Given the description of an element on the screen output the (x, y) to click on. 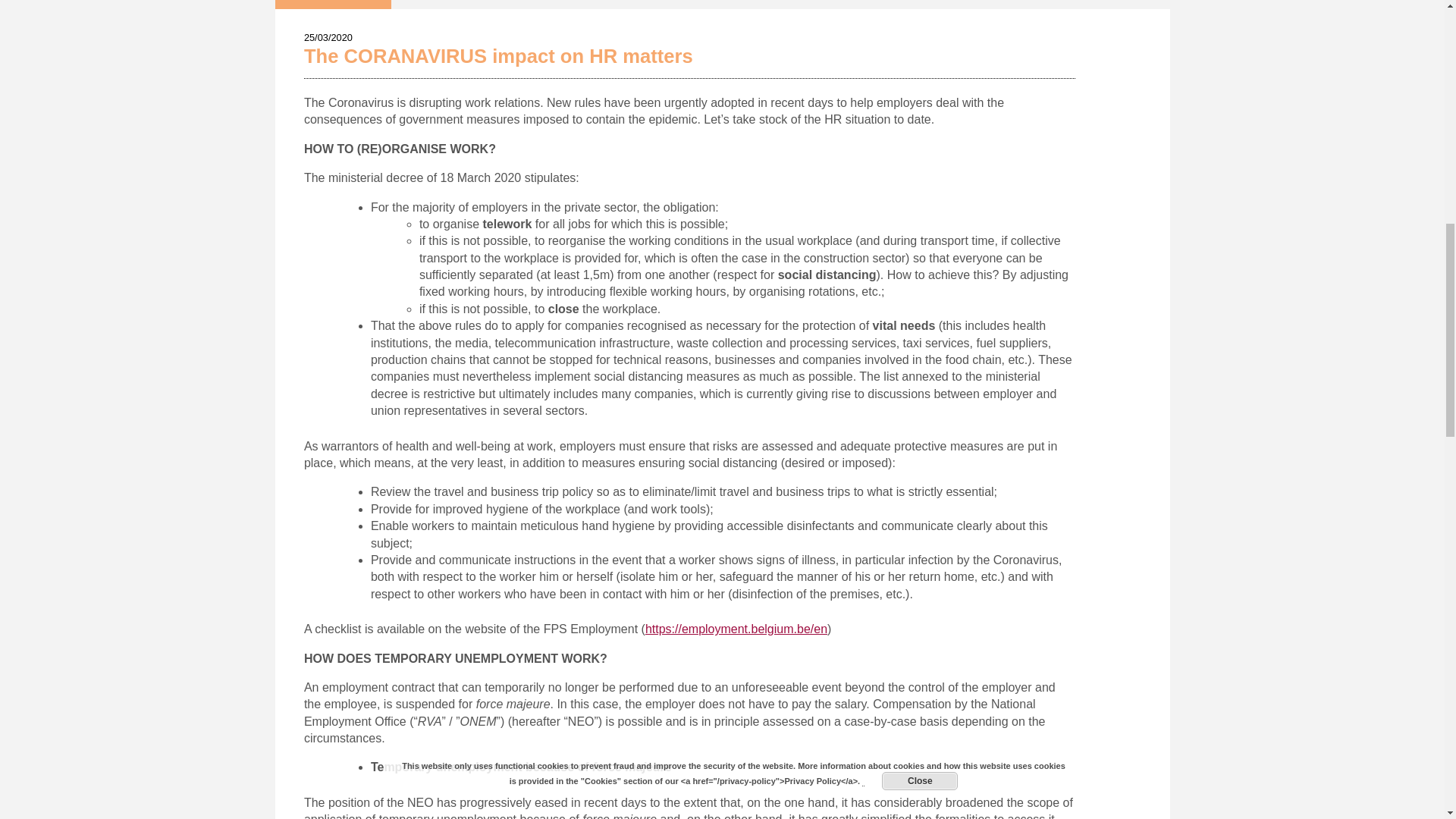
The CORANAVIRUS impact on HR matters (498, 55)
